Given the description of an element on the screen output the (x, y) to click on. 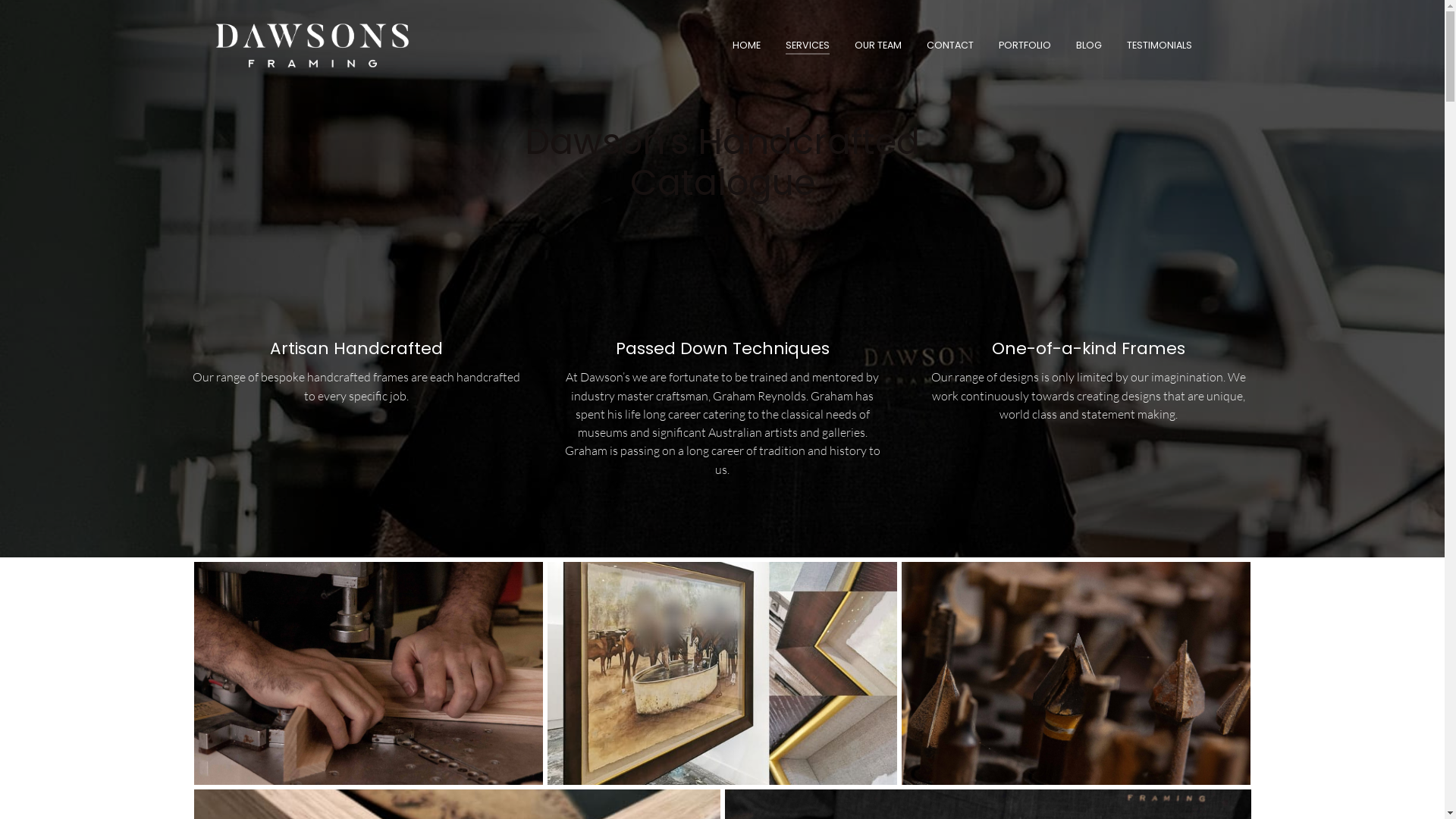
OUR TEAM Element type: text (872, 45)
PORTFOLIO Element type: text (1019, 45)
HOME Element type: text (739, 45)
SERVICES Element type: text (800, 45)
TESTIMONIALS Element type: text (1152, 45)
Skip to content Element type: text (949, 29)
Dawsons Framing Element type: hover (312, 45)
BLOG Element type: text (1082, 45)
CONTACT Element type: text (943, 45)
